Given the description of an element on the screen output the (x, y) to click on. 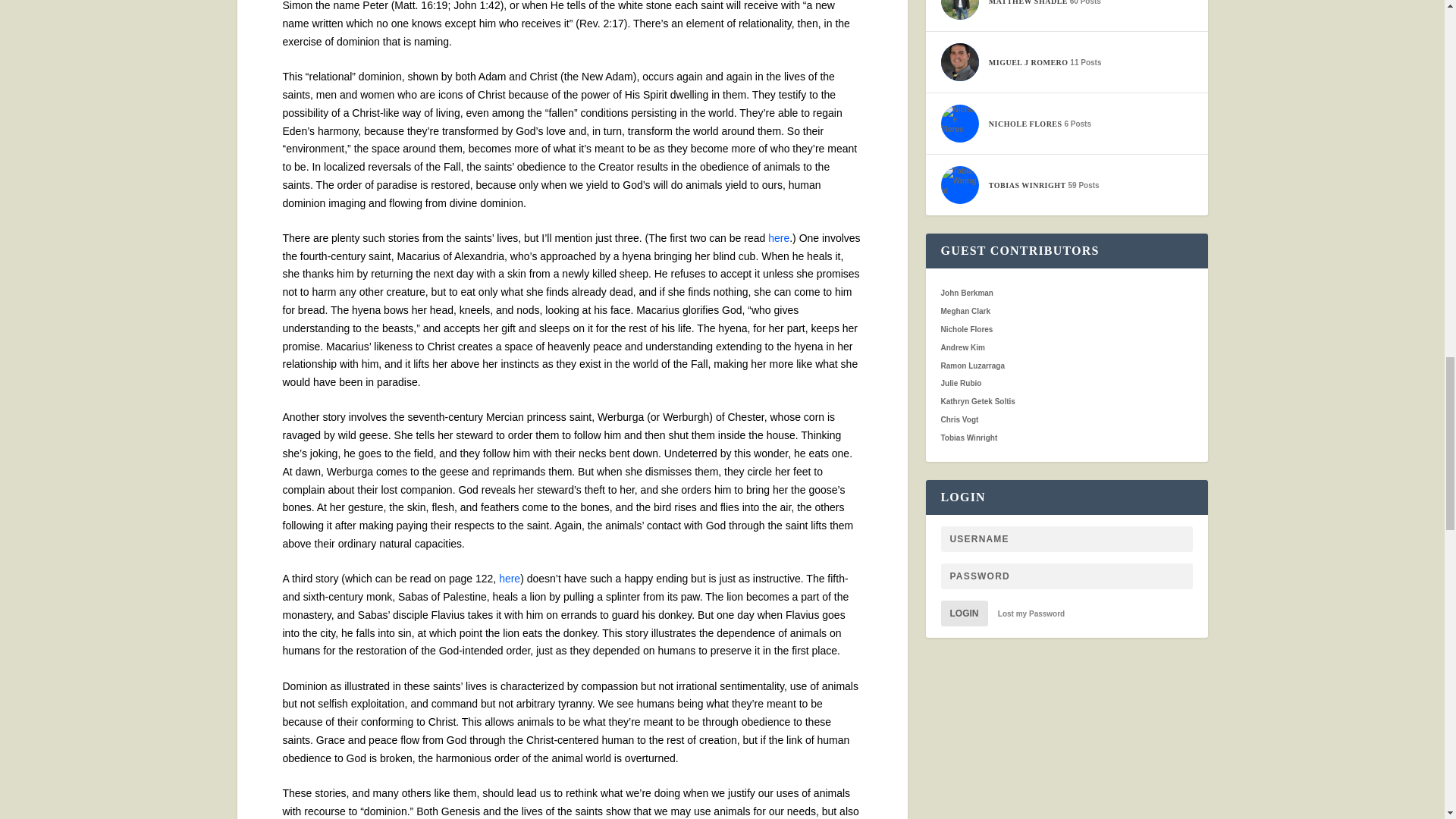
here (778, 237)
here (509, 578)
